Given the description of an element on the screen output the (x, y) to click on. 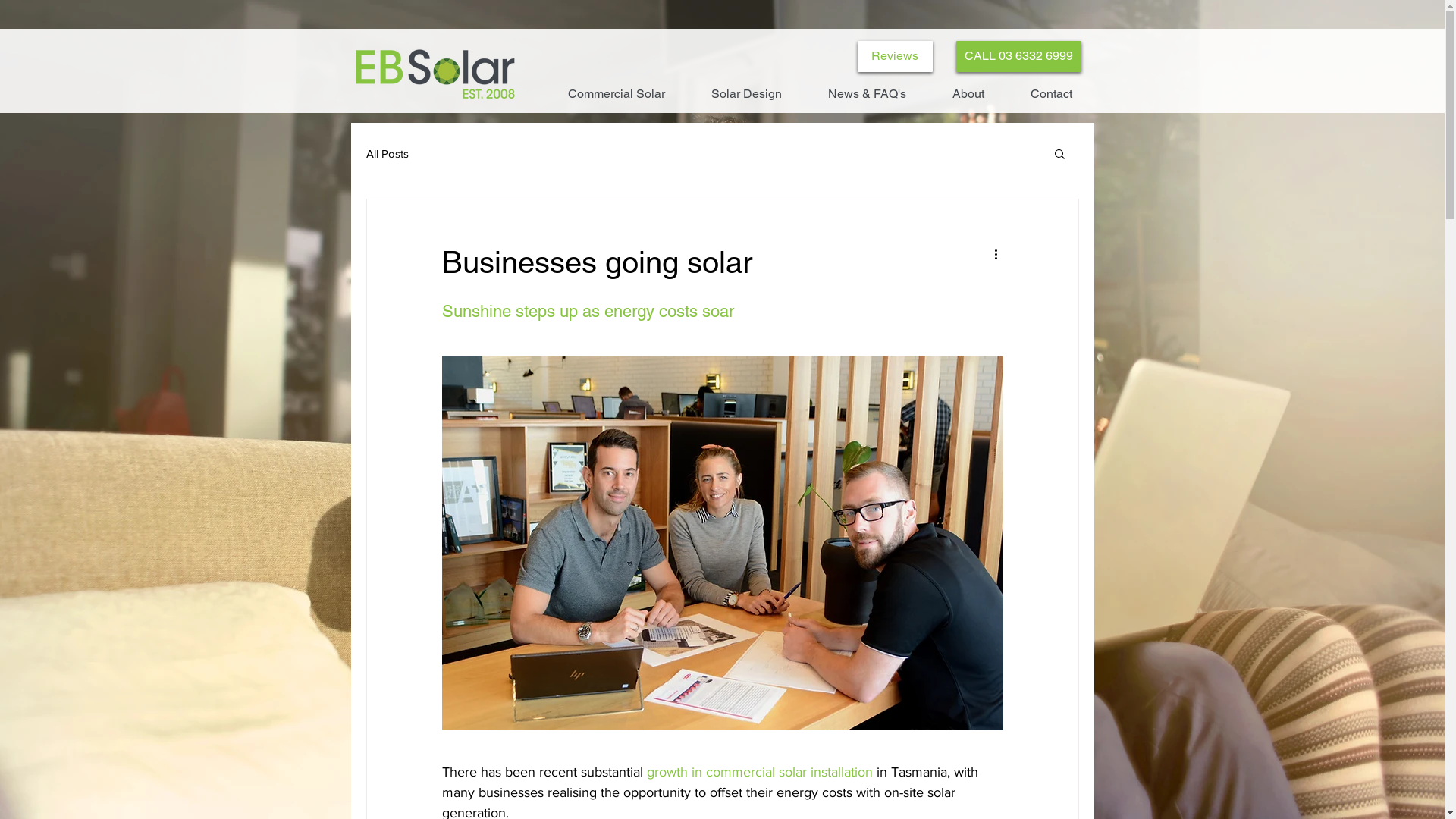
Solar Design Element type: text (746, 93)
Commercial Solar Element type: text (615, 93)
Contact Element type: text (1050, 93)
All Posts Element type: text (386, 153)
News & FAQ's Element type: text (867, 93)
About Element type: text (968, 93)
Reviews Element type: text (893, 56)
CALL 03 6332 6999 Element type: text (1017, 56)
